Given the description of an element on the screen output the (x, y) to click on. 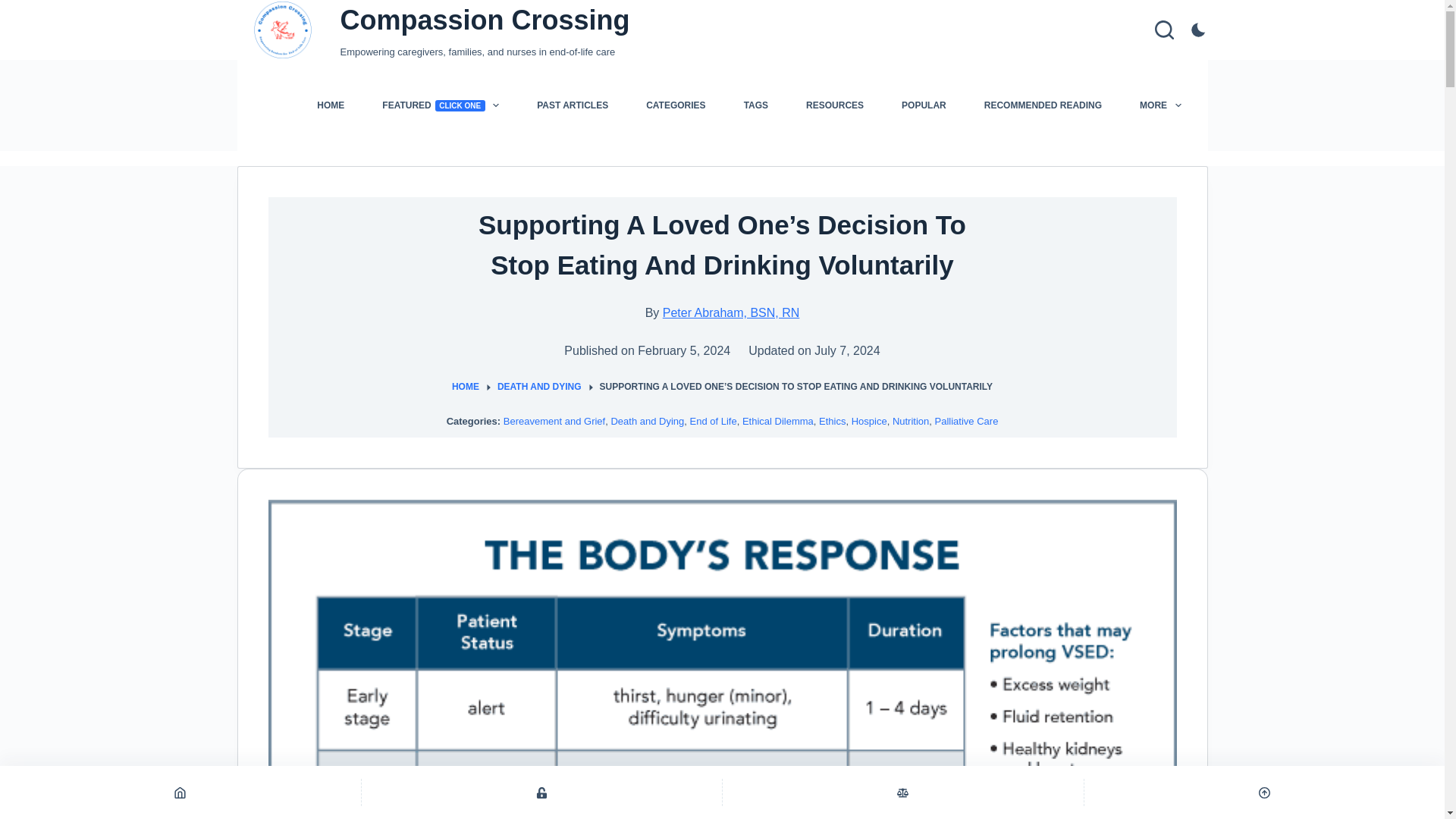
Compassion Crossing (440, 104)
PAST ARTICLES (483, 20)
Skip to content (572, 104)
RESOURCES (15, 7)
RECOMMENDED READING (834, 104)
POPULAR (1043, 104)
CATEGORIES (923, 104)
